Given the description of an element on the screen output the (x, y) to click on. 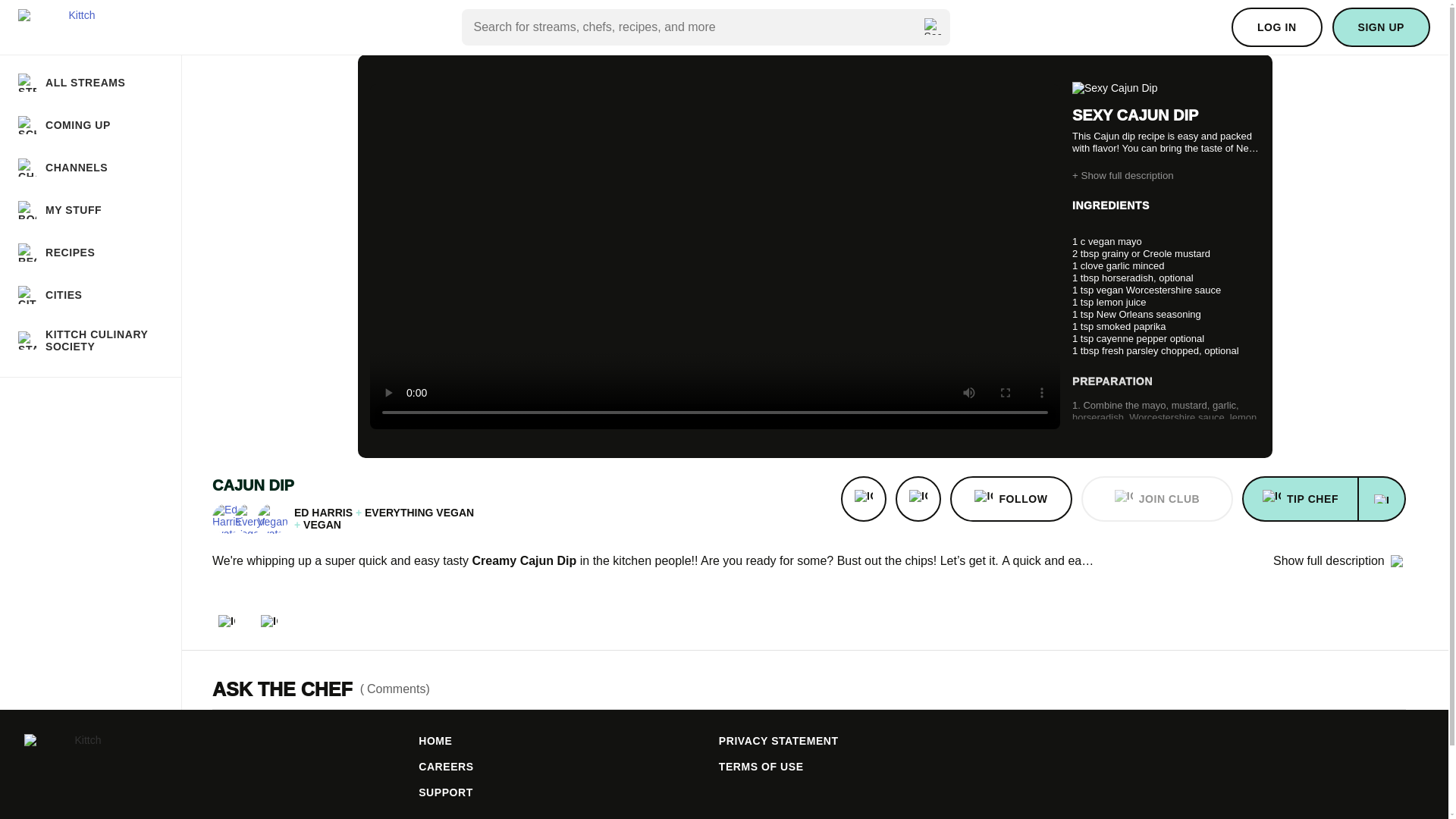
SIGN UP (1380, 27)
CITIES (90, 294)
COMING UP (90, 125)
CHANNELS (90, 167)
LOG IN (1277, 27)
ALL STREAMS (90, 82)
SIGN UP (1380, 26)
LOG IN (1276, 26)
RECIPES (90, 251)
MY STUFF (90, 209)
